Given the description of an element on the screen output the (x, y) to click on. 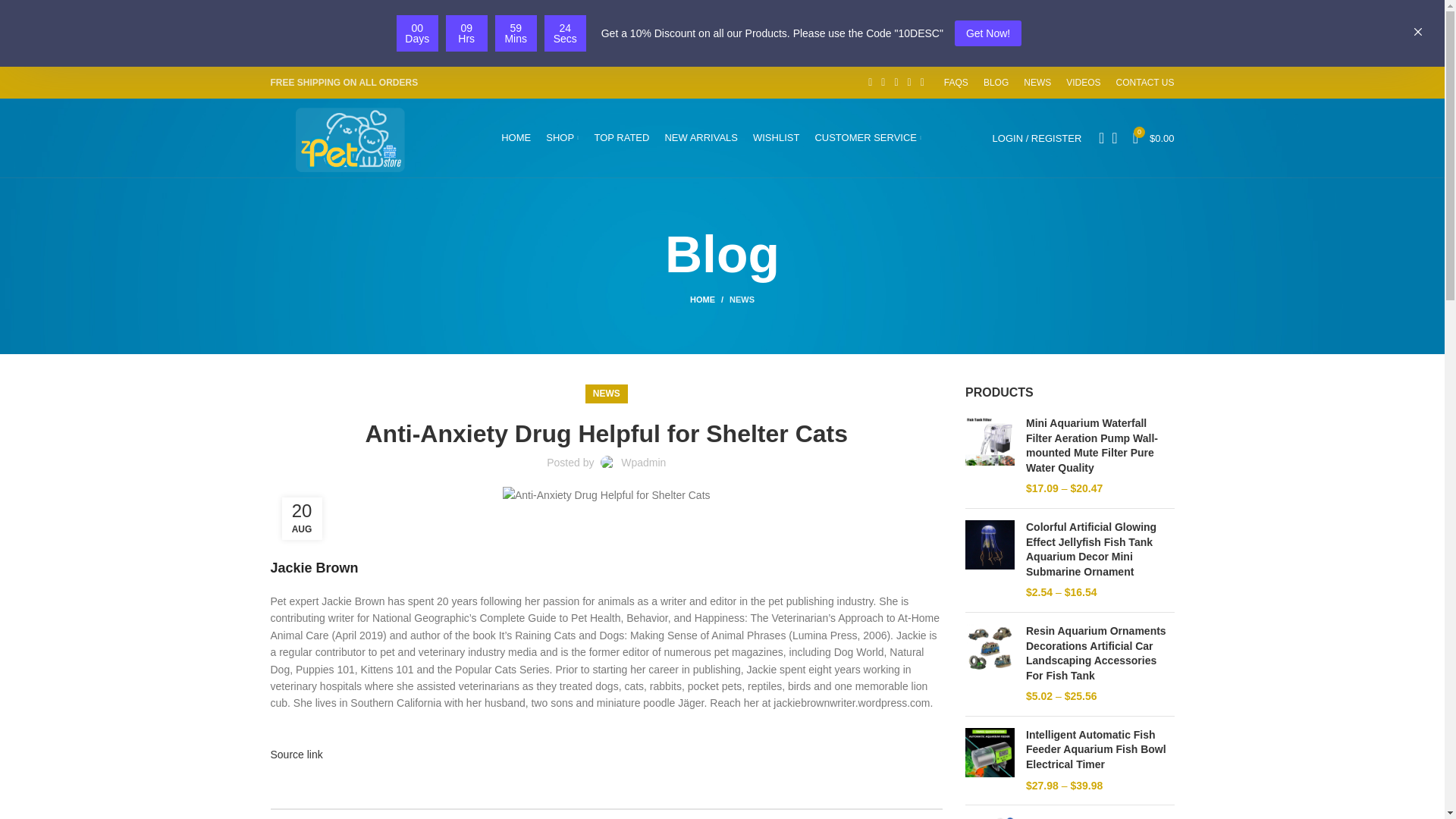
Aquarium lamp led for  coral reef light saltwater (989, 817)
NEW ARRIVALS (700, 137)
WISHLIST (775, 137)
HOME (515, 137)
NEWS (1037, 82)
Get Now! (988, 32)
My account (1037, 137)
CONTACT US (1145, 82)
Shopping cart (1153, 137)
Log in (956, 378)
Aquarium lamp led for  coral reef light saltwater (1100, 817)
CUSTOMER SERVICE (867, 137)
TOP RATED (621, 137)
